Given the description of an element on the screen output the (x, y) to click on. 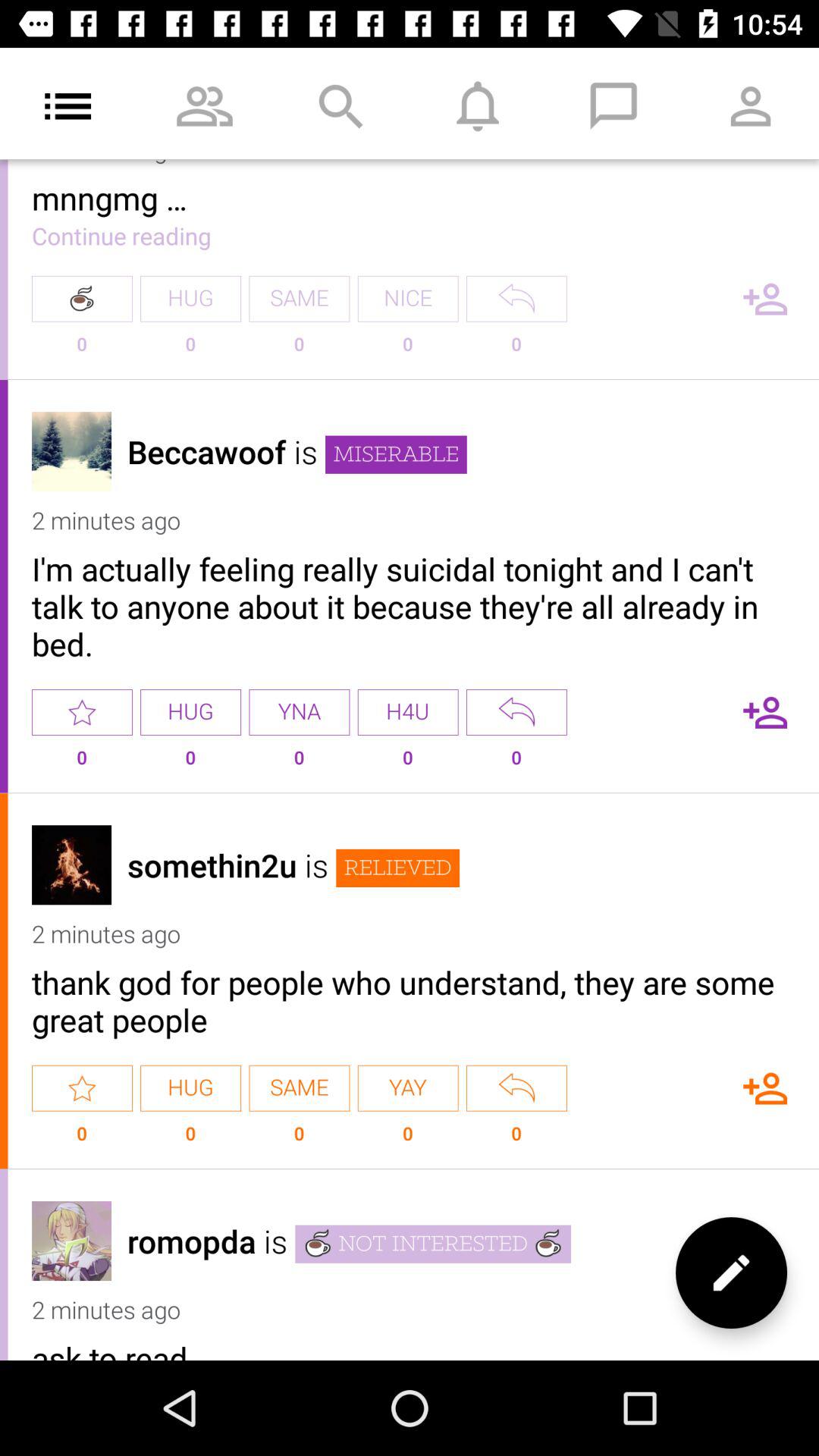
add person (765, 1088)
